Given the description of an element on the screen output the (x, y) to click on. 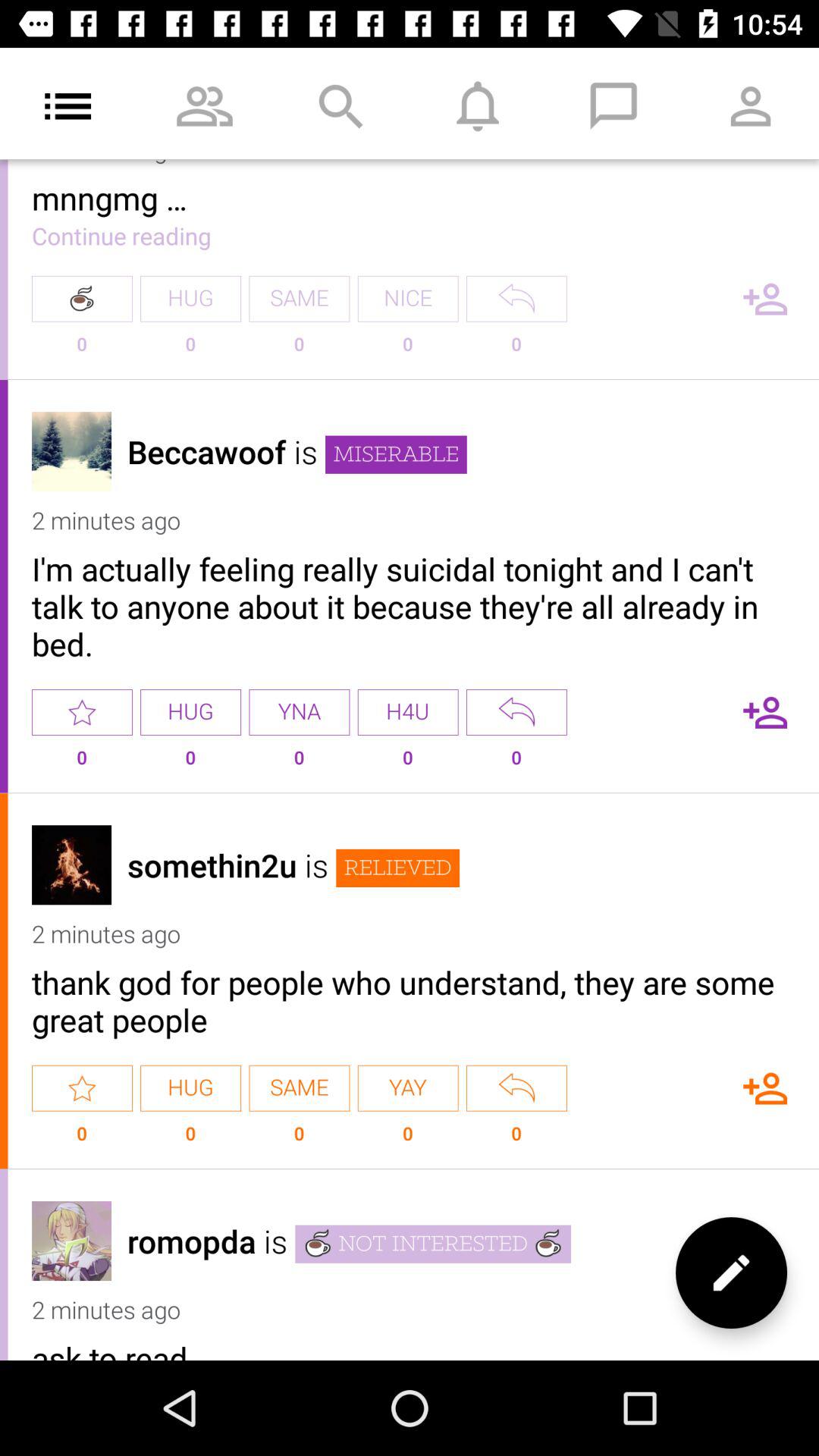
add person (765, 1088)
